Given the description of an element on the screen output the (x, y) to click on. 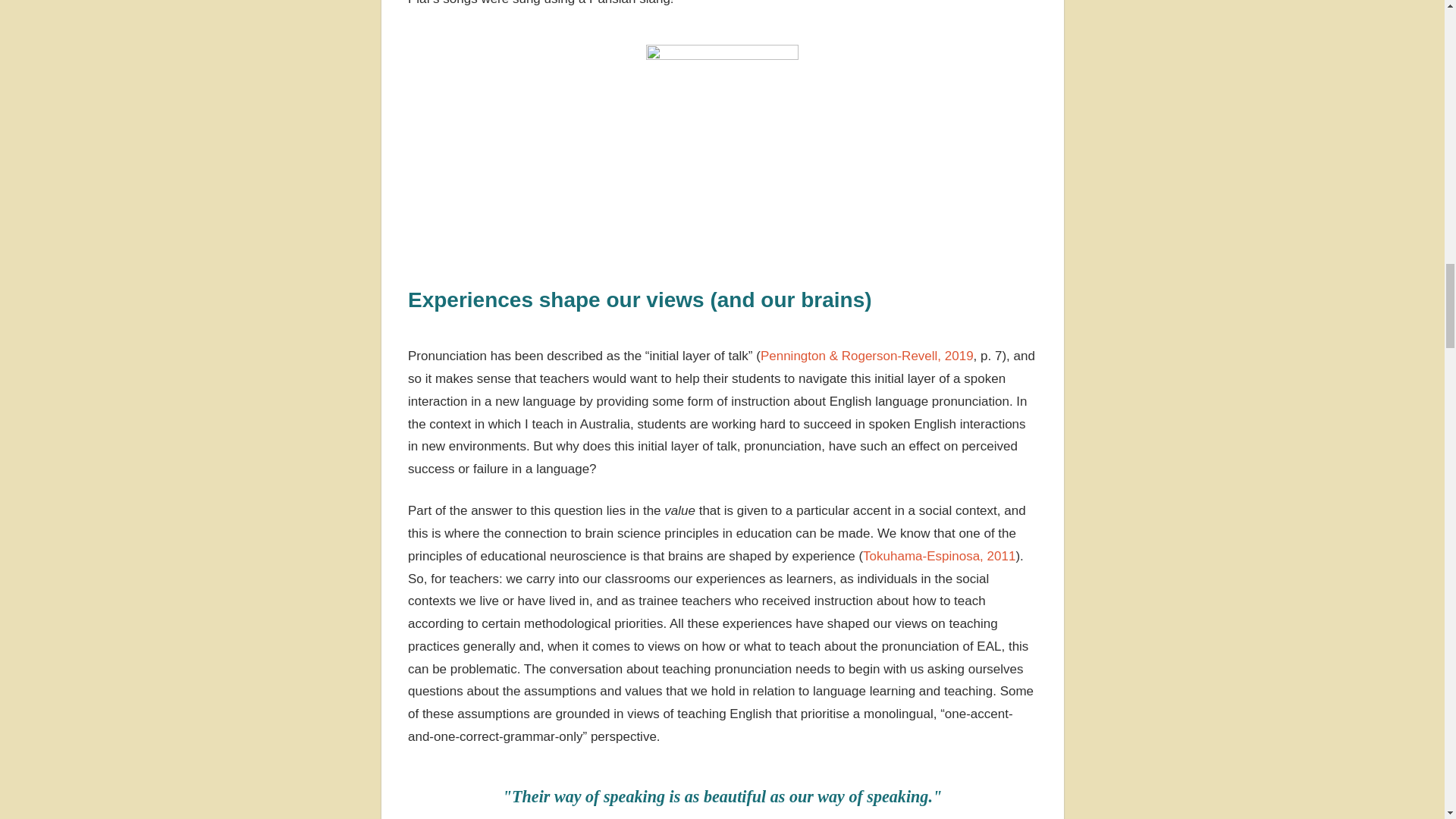
Tokuhama-Espinosa, 2011 (938, 555)
